Given the description of an element on the screen output the (x, y) to click on. 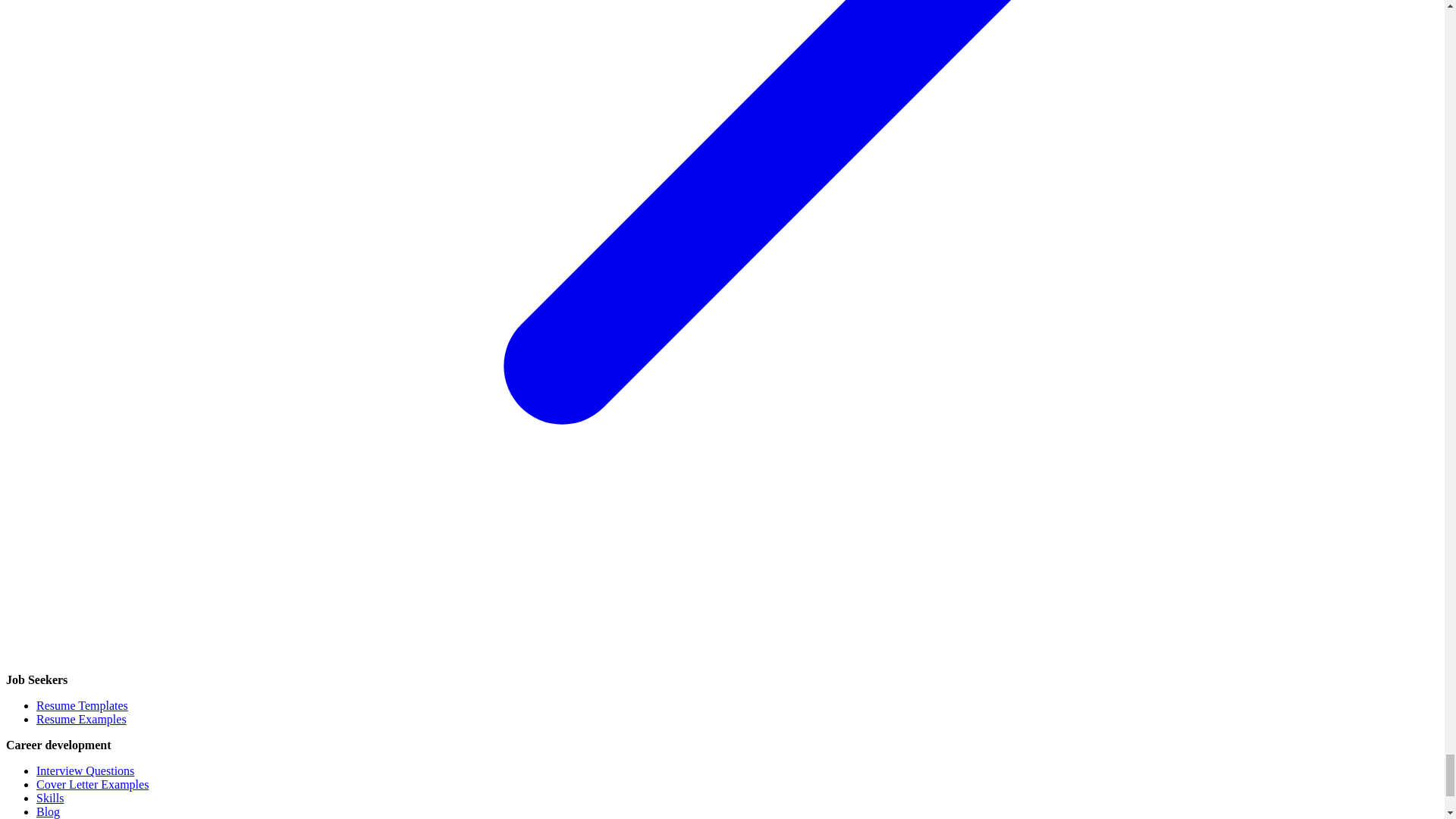
Blog (47, 811)
Resume Templates (82, 705)
Skills (50, 797)
Resume Examples (81, 718)
Interview Questions (84, 770)
Cover Letter Examples (92, 784)
